Given the description of an element on the screen output the (x, y) to click on. 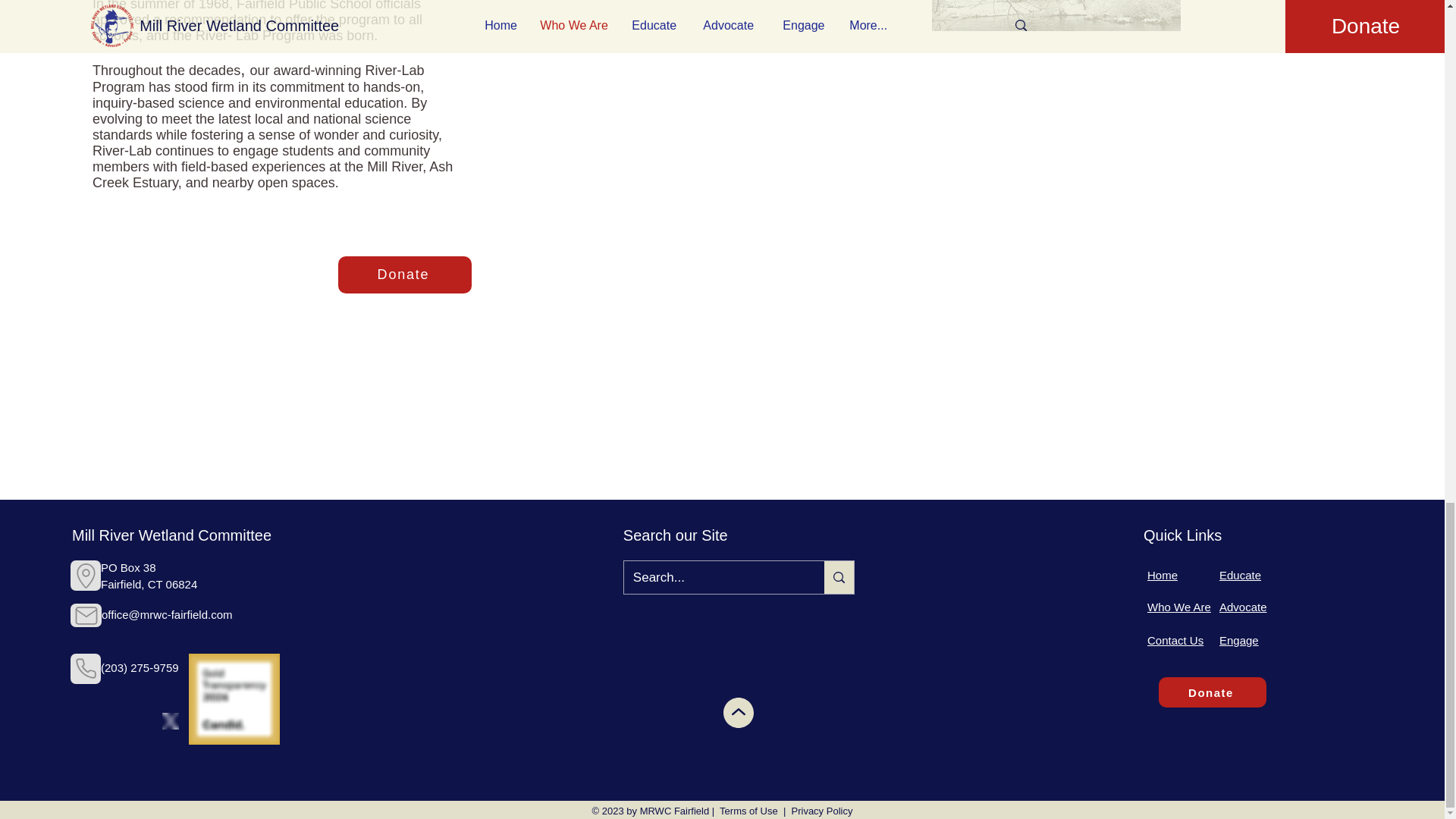
Home (1162, 574)
Educate (1240, 574)
Donate (404, 274)
